Given the description of an element on the screen output the (x, y) to click on. 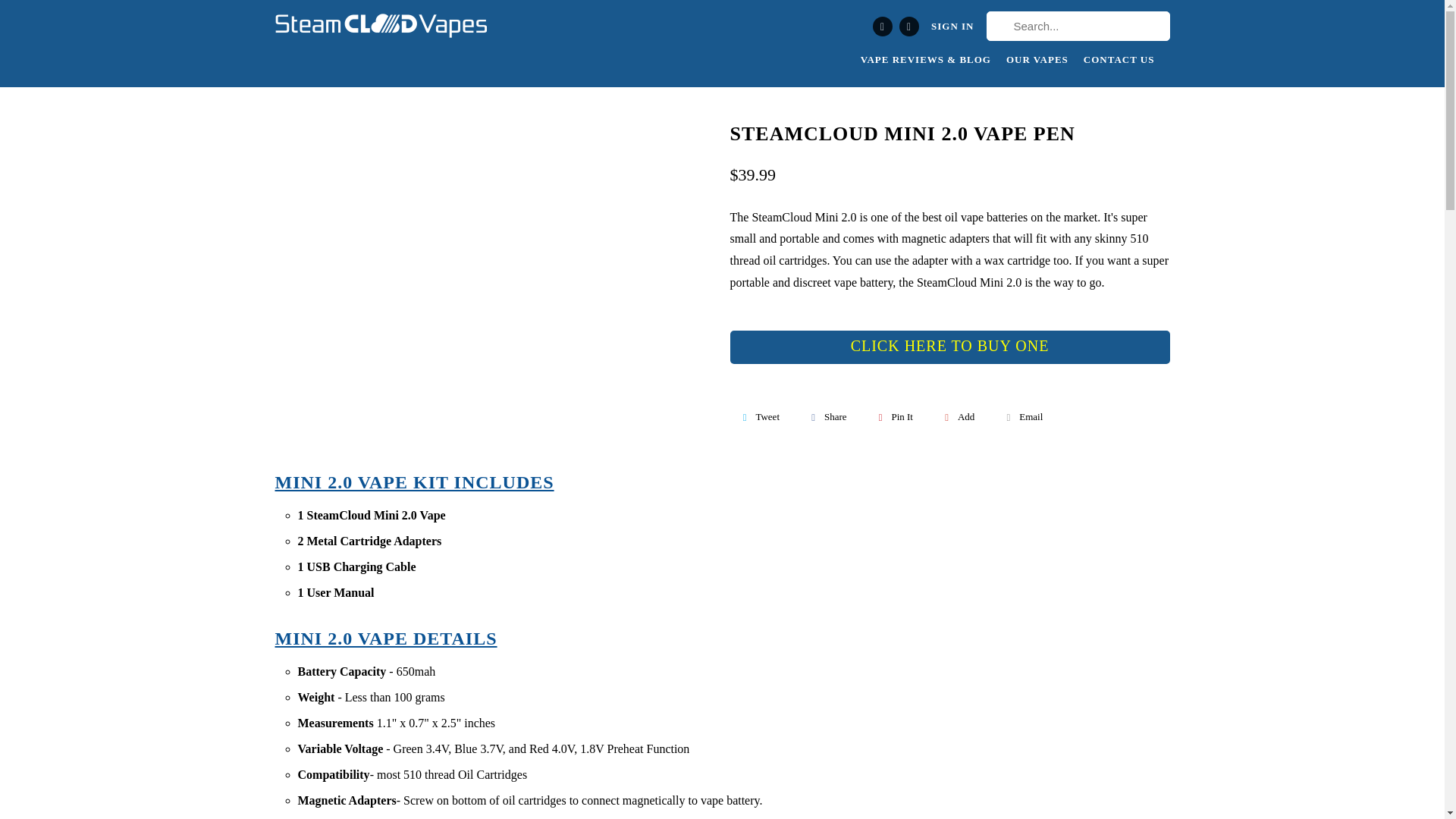
Email SteamCloudVapes (908, 26)
Tweet (759, 416)
CLICK HERE TO BUY ONE (949, 346)
Share this on Pinterest (894, 416)
Share (827, 416)
Share this on Twitter (759, 416)
Pin It (894, 416)
Share this on Facebook (827, 416)
Email this to a friend (1022, 416)
SteamCloudVapes (380, 28)
